Given the description of an element on the screen output the (x, y) to click on. 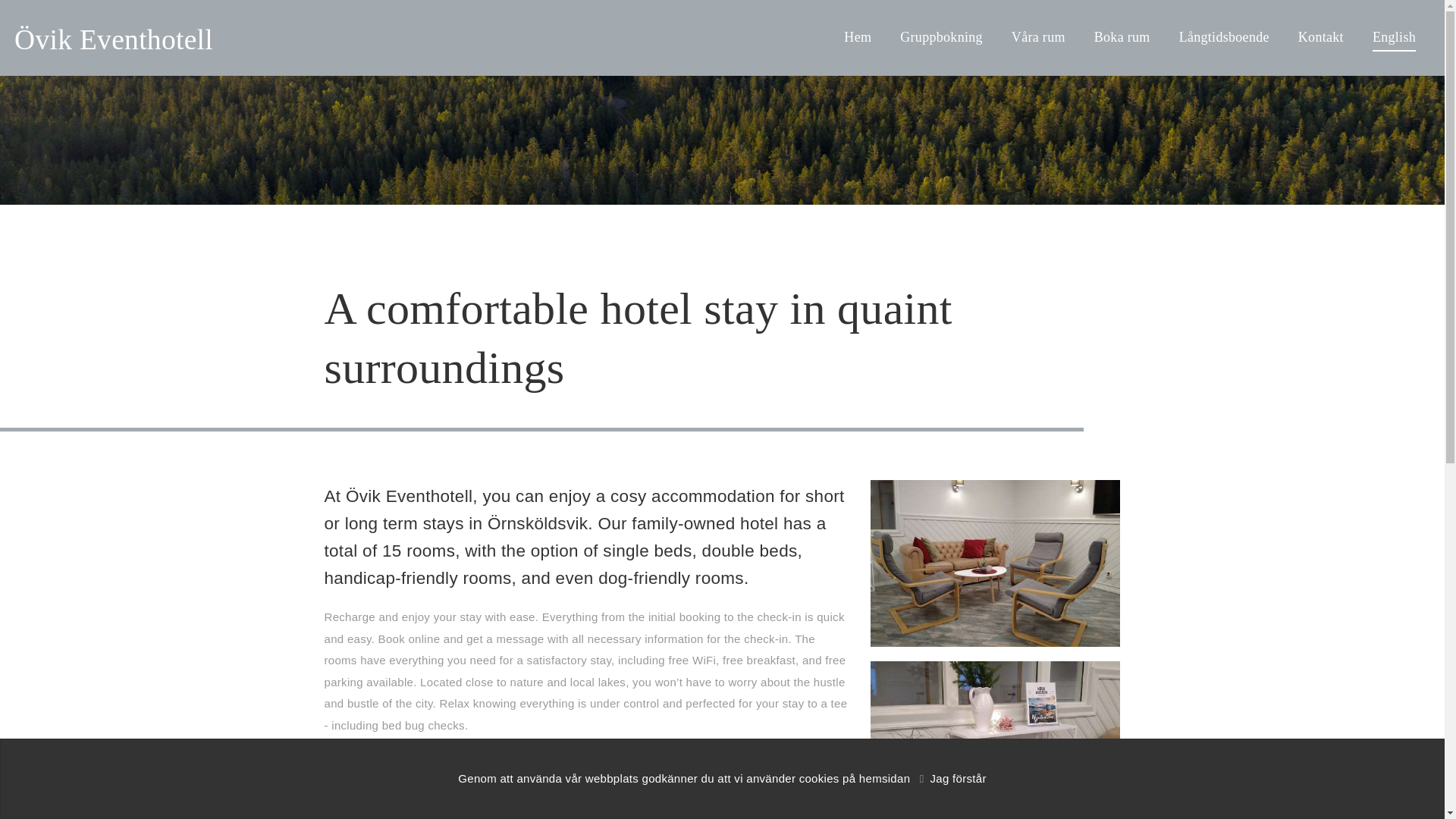
Boka rum (1122, 36)
English (1394, 37)
Kontakt (1320, 36)
Hem (857, 36)
Gruppbokning (940, 36)
